Given the description of an element on the screen output the (x, y) to click on. 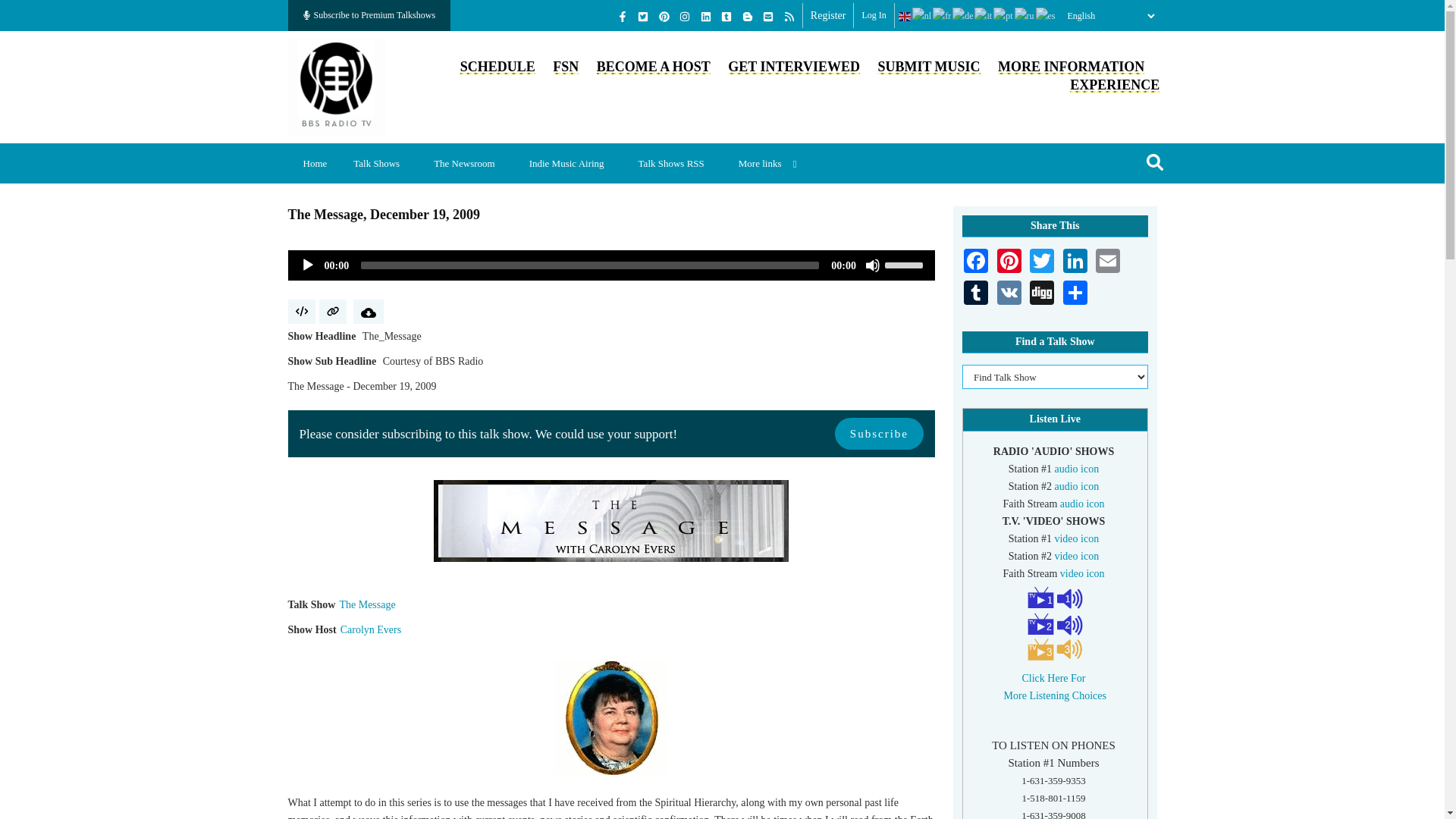
FSN (565, 66)
The Message with Carolyn Evers, banner (611, 520)
Register (827, 15)
SUBMIT MUSIC (928, 66)
Subscribe to Premium Talkshows (369, 15)
Italiano (983, 15)
GET INTERVIEWED (794, 66)
Log In (873, 14)
Home (315, 163)
MORE INFORMATION (1070, 66)
SCHEDULE (497, 66)
English (905, 15)
Copy audio embed code (301, 311)
Play (307, 264)
